Given the description of an element on the screen output the (x, y) to click on. 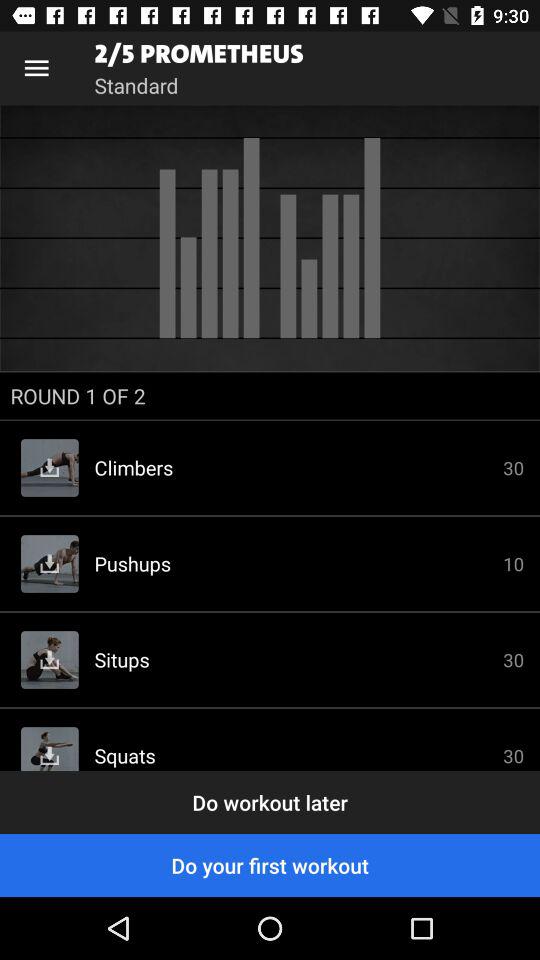
press item below the do workout later icon (270, 864)
